Given the description of an element on the screen output the (x, y) to click on. 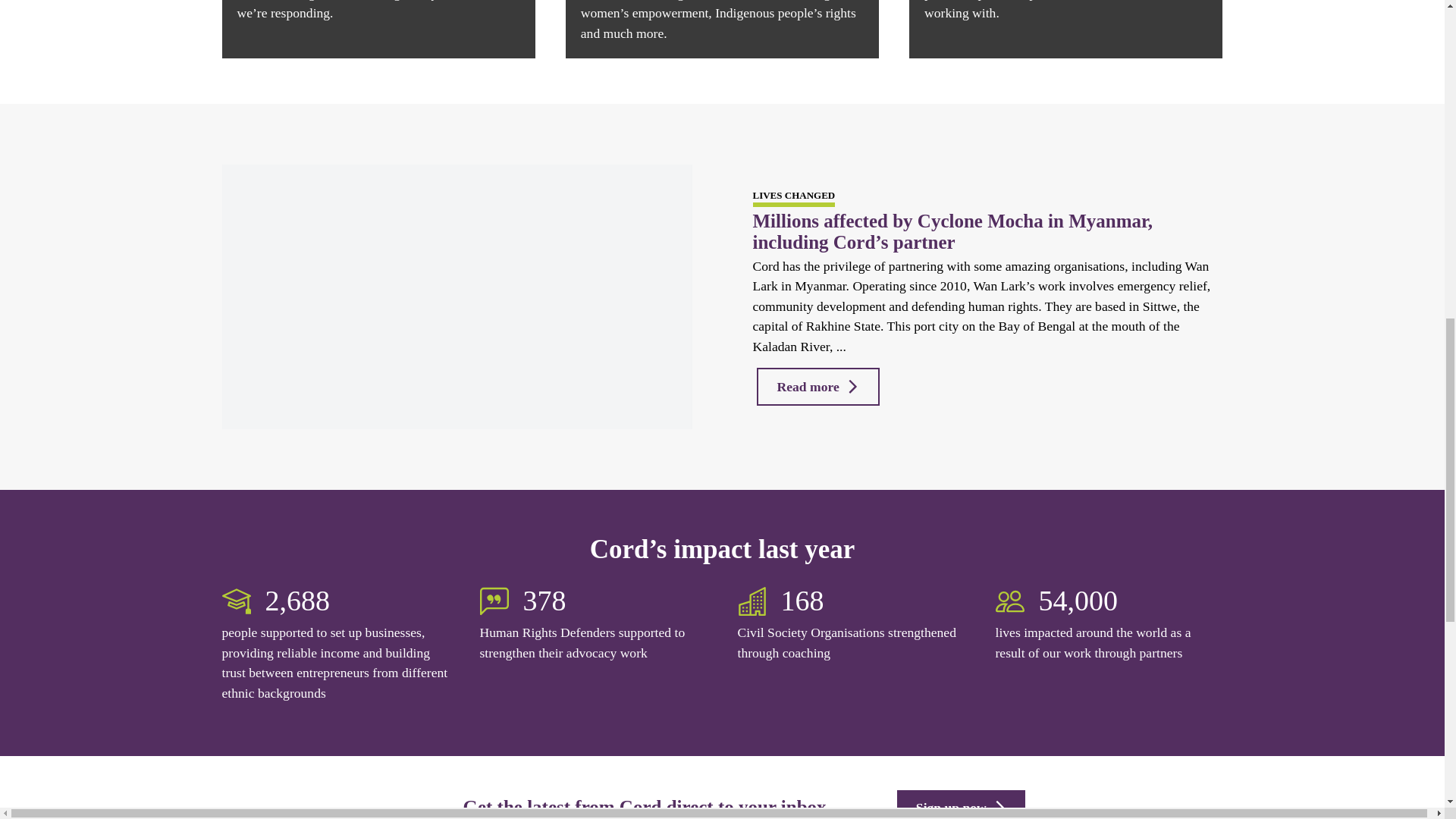
Read more (818, 386)
Sign up now (960, 804)
